Given the description of an element on the screen output the (x, y) to click on. 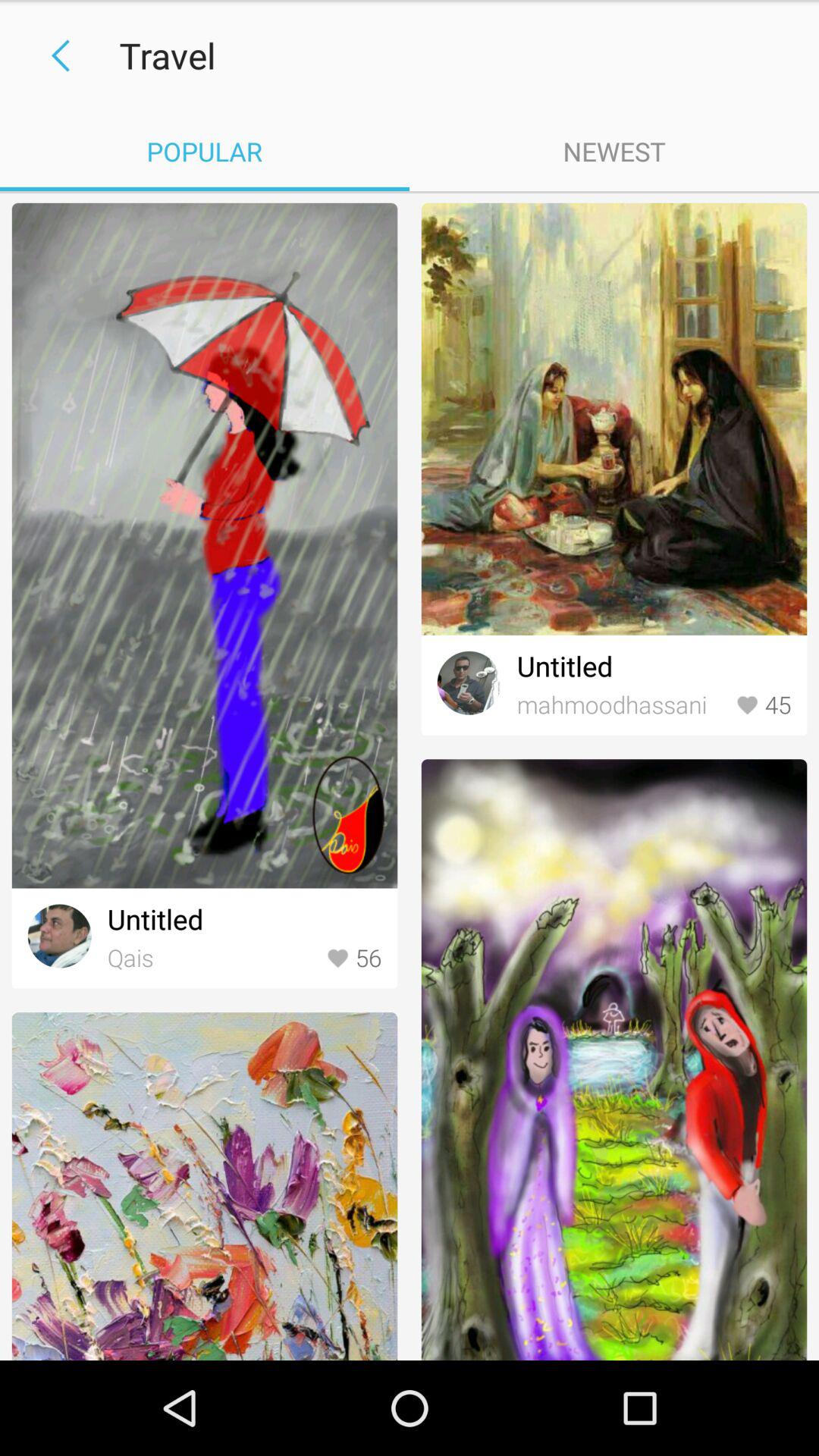
flip until the mahmoodhassani (622, 705)
